Given the description of an element on the screen output the (x, y) to click on. 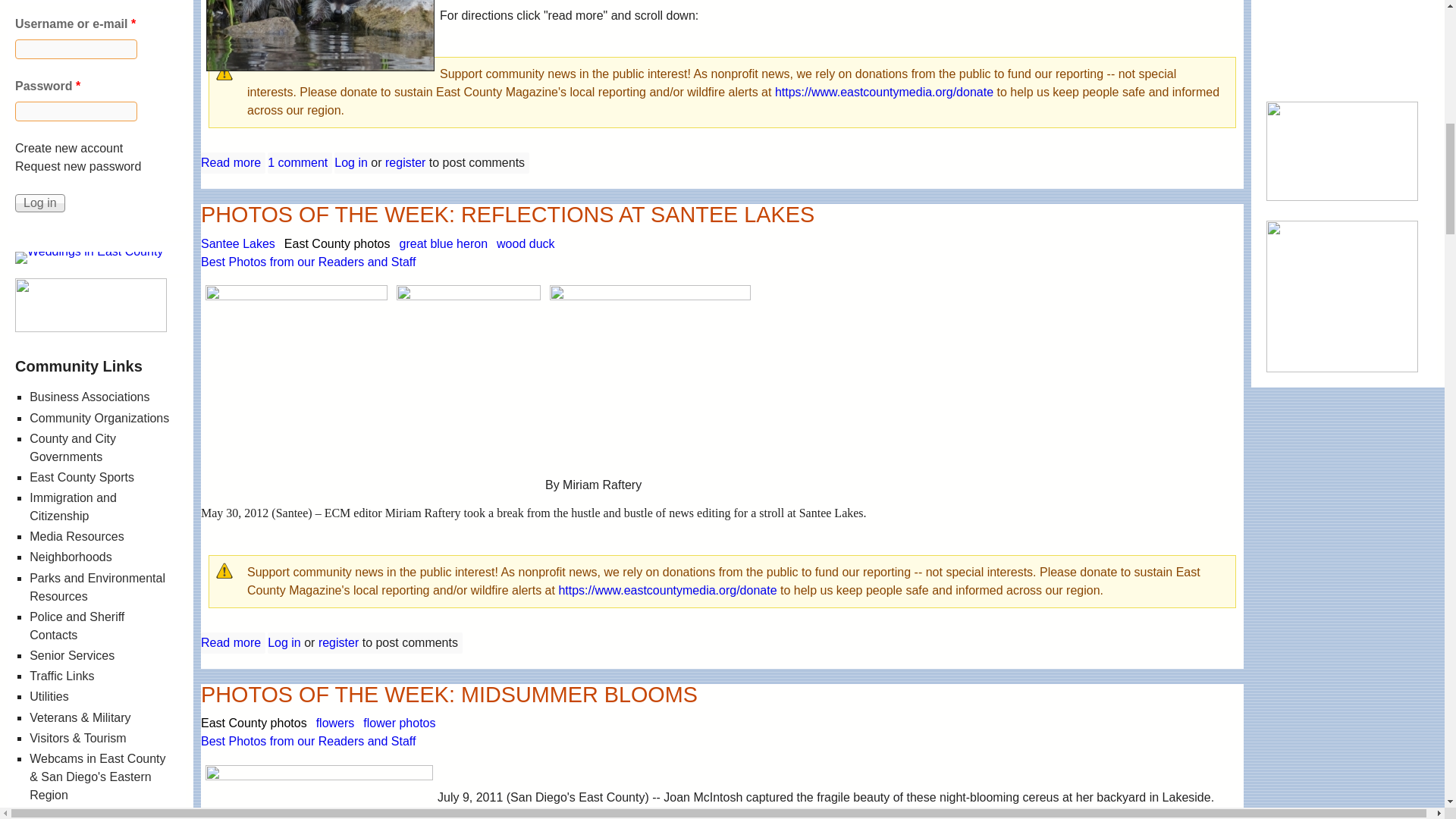
Log in (39, 230)
